Given the description of an element on the screen output the (x, y) to click on. 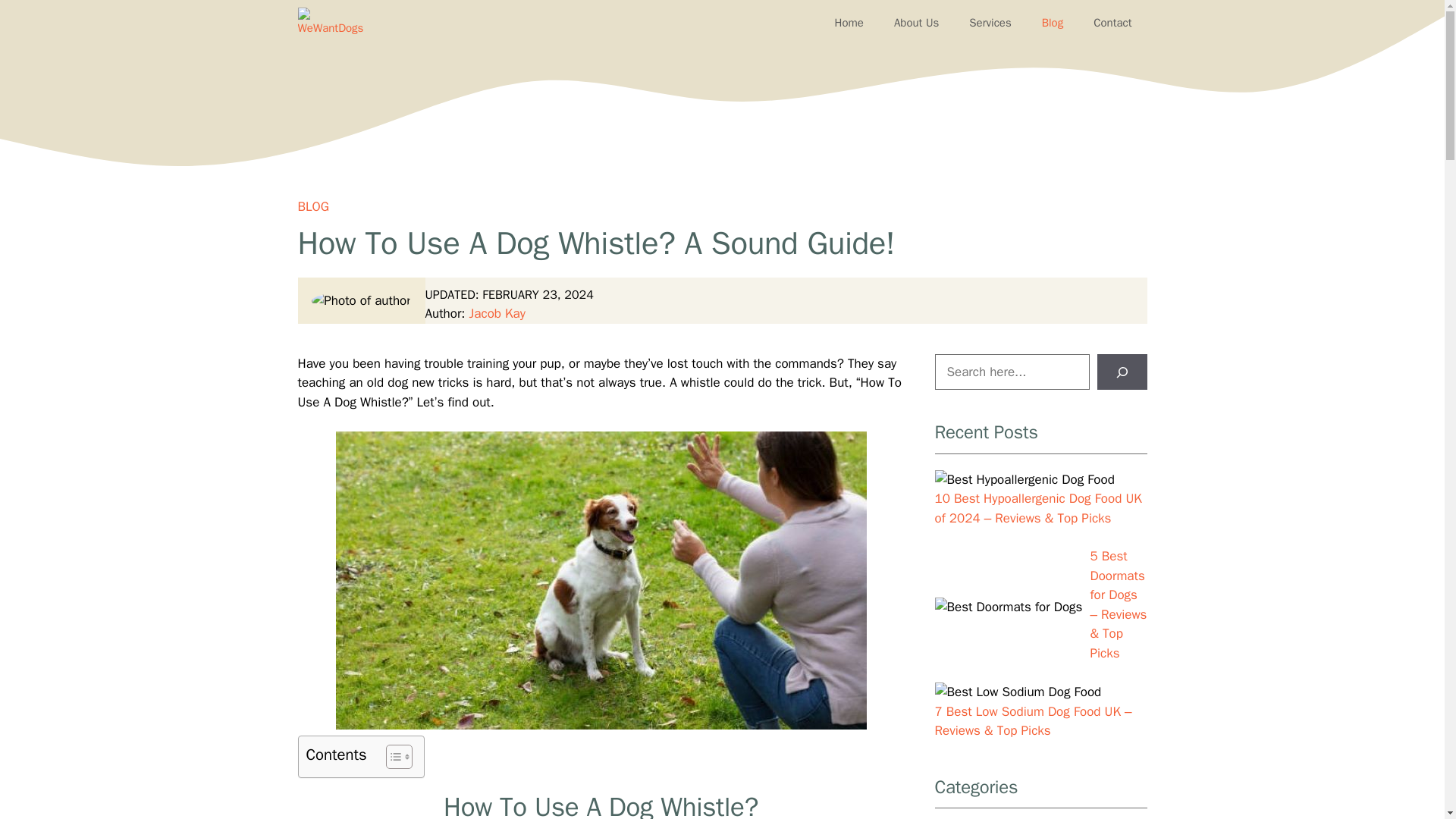
Contact (1112, 22)
Jacob Kay (496, 313)
BLOG (313, 206)
Services (989, 22)
Blog (1052, 22)
About Us (916, 22)
WeWantDogs (334, 22)
Home (849, 22)
